Given the description of an element on the screen output the (x, y) to click on. 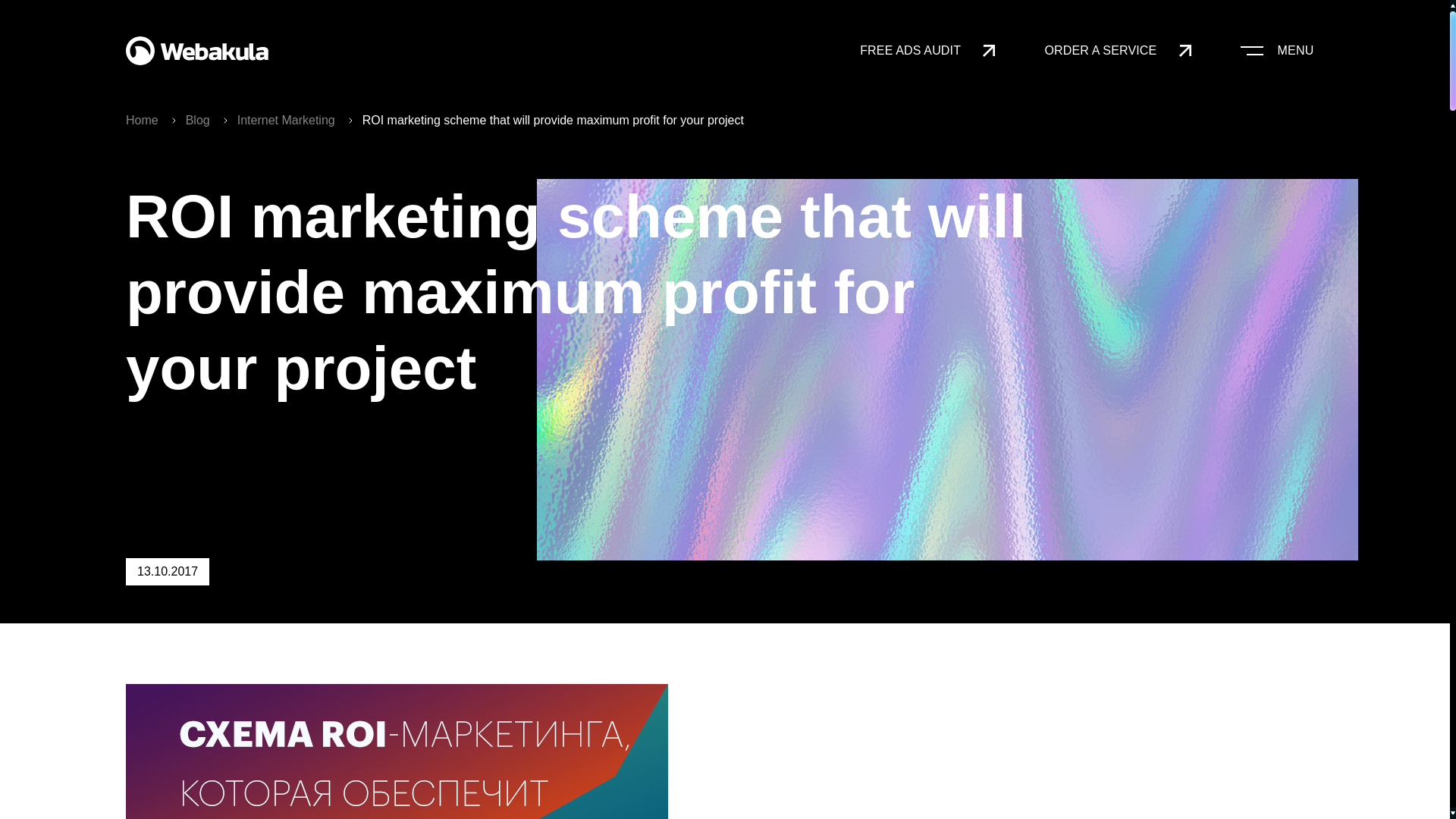
Blog (190, 119)
FREE ADS AUDIT (927, 50)
Home (141, 119)
ORDER A SERVICE (1117, 50)
Internet Marketing (279, 119)
MENU (1276, 50)
